Given the description of an element on the screen output the (x, y) to click on. 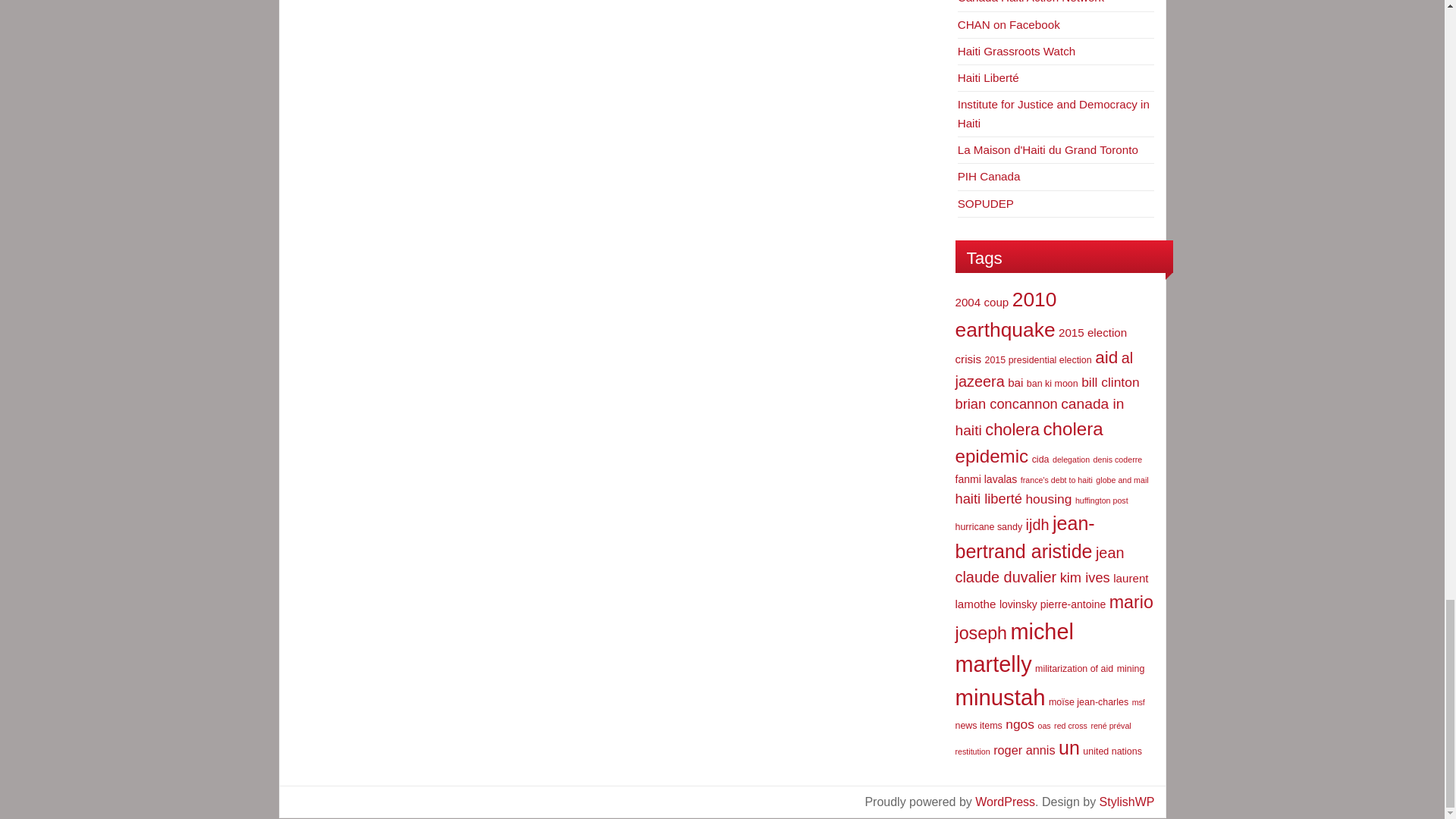
An outstanding independant news source for Haiti (988, 77)
The Canada Haiti Action Network also has a Facebook Account (1008, 24)
BlogoLife (1126, 801)
